Given the description of an element on the screen output the (x, y) to click on. 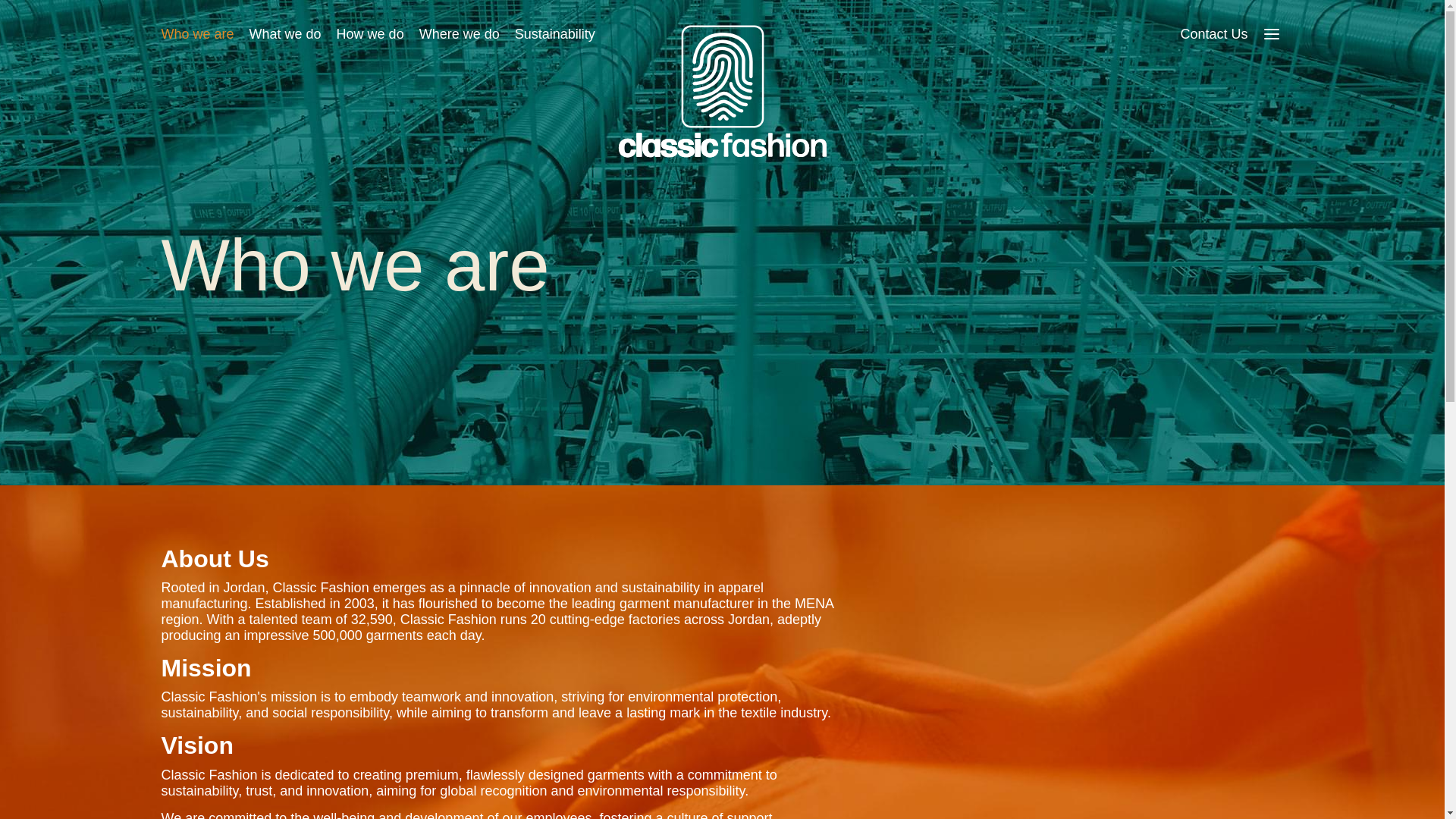
Contact Us (1213, 33)
Where we do (459, 33)
How we do (370, 33)
Who we are (196, 33)
What we do (284, 33)
Sustainability (555, 33)
